Given the description of an element on the screen output the (x, y) to click on. 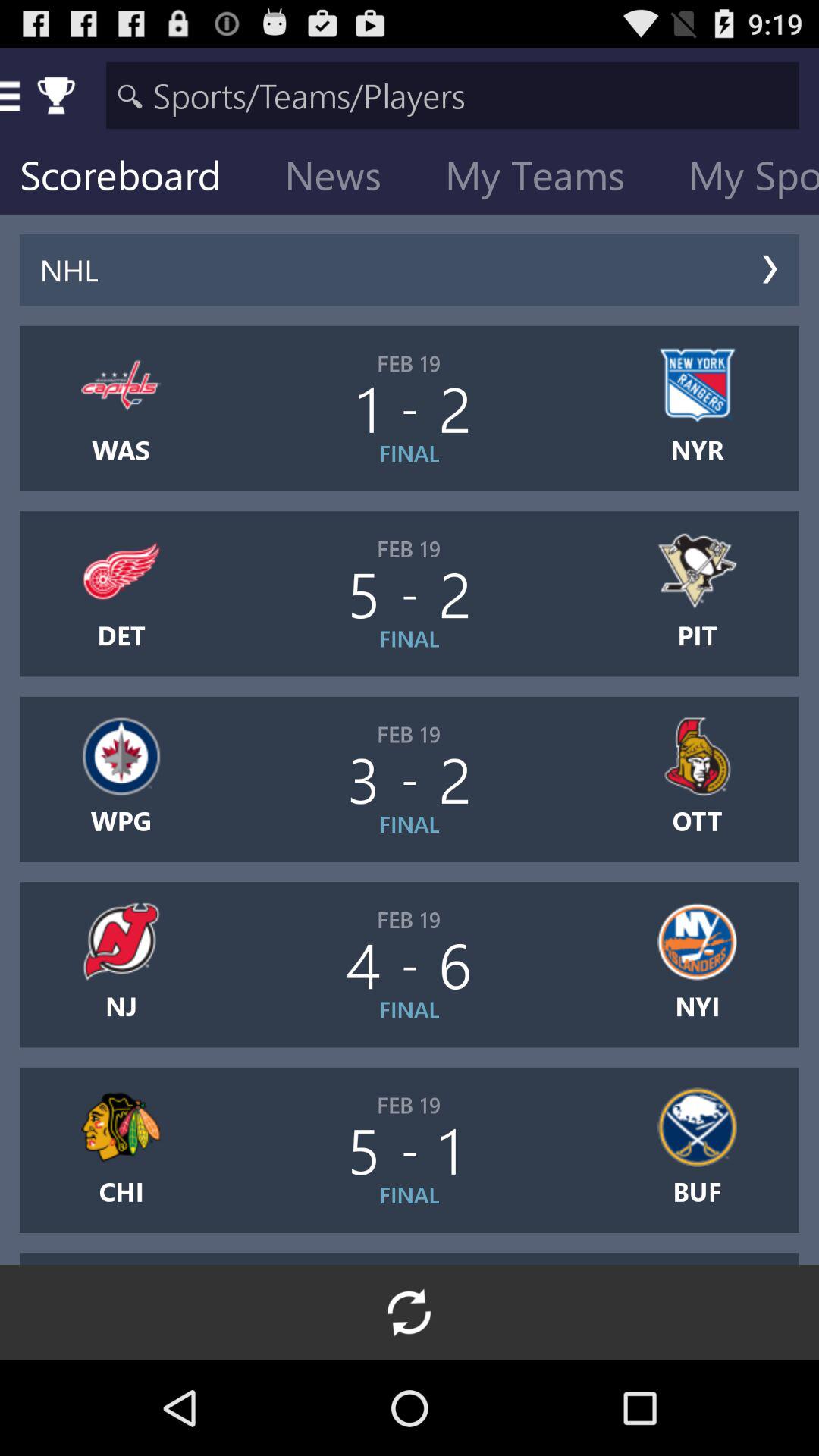
turn off the icon to the left of the my teams item (345, 178)
